Given the description of an element on the screen output the (x, y) to click on. 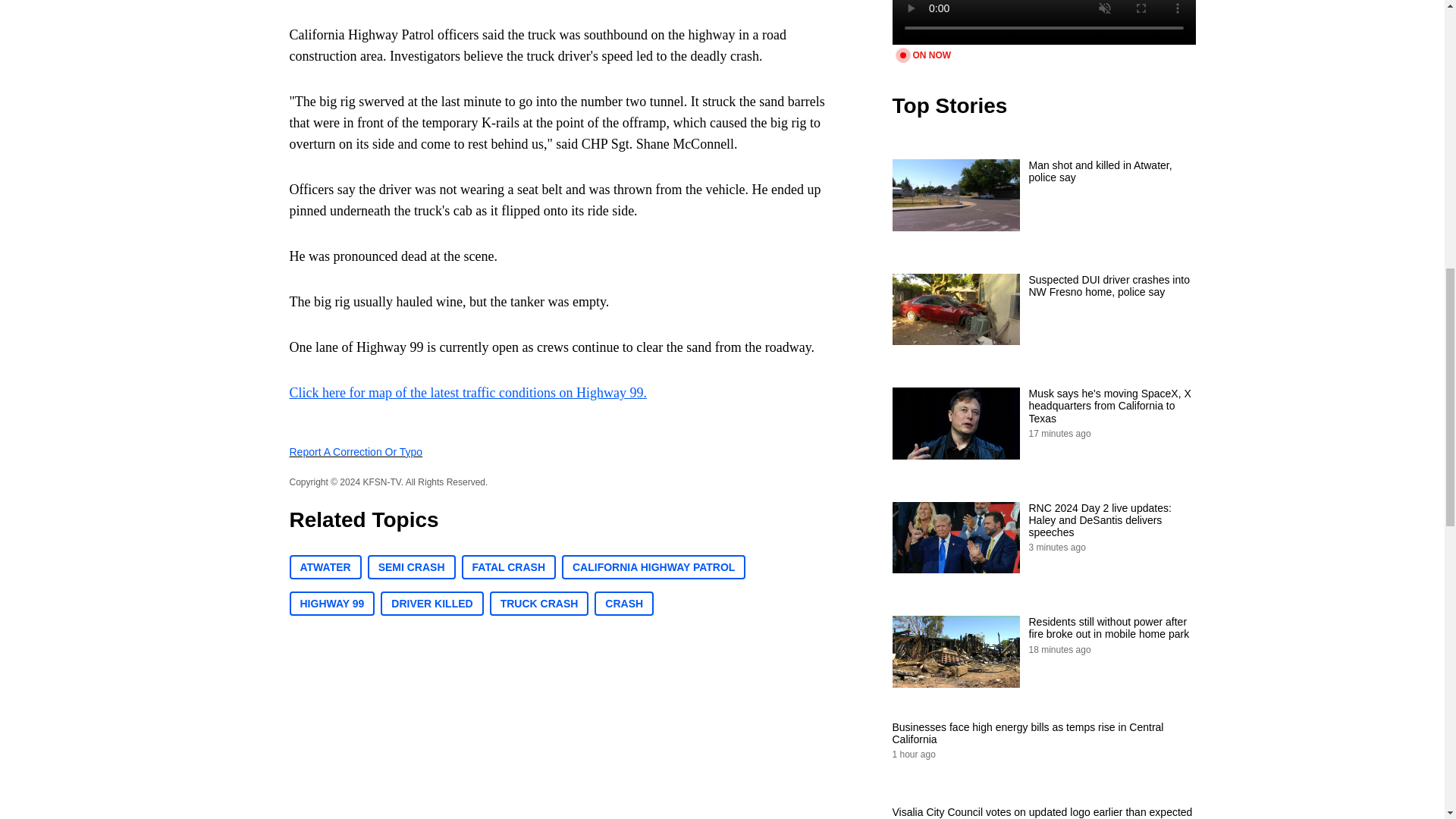
video.title (1043, 22)
